Given the description of an element on the screen output the (x, y) to click on. 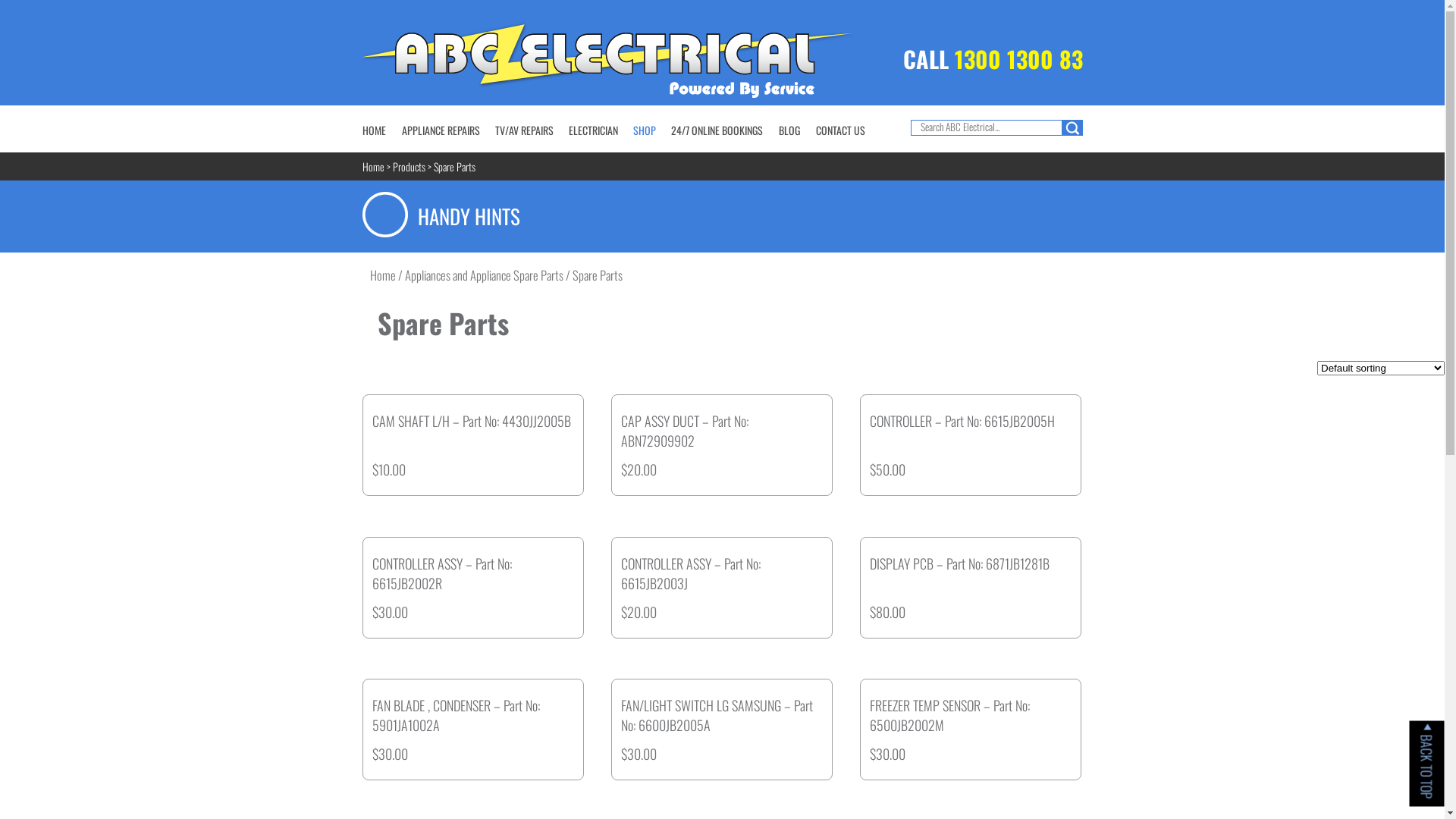
Home Element type: text (382, 274)
Appliances and Appliance Spare Parts Element type: text (483, 274)
BLOG Element type: text (788, 130)
Products Element type: text (408, 166)
HOME Element type: text (373, 130)
SHOP Element type: text (643, 130)
1300 1300 83 Element type: text (1017, 58)
APPLIANCE REPAIRS Element type: text (440, 130)
CONTACT US Element type: text (840, 130)
TV/AV REPAIRS Element type: text (523, 130)
ELECTRICIAN Element type: text (593, 130)
24/7 ONLINE BOOKINGS Element type: text (716, 130)
Search for: Element type: hover (985, 127)
Home Element type: text (373, 166)
